Given the description of an element on the screen output the (x, y) to click on. 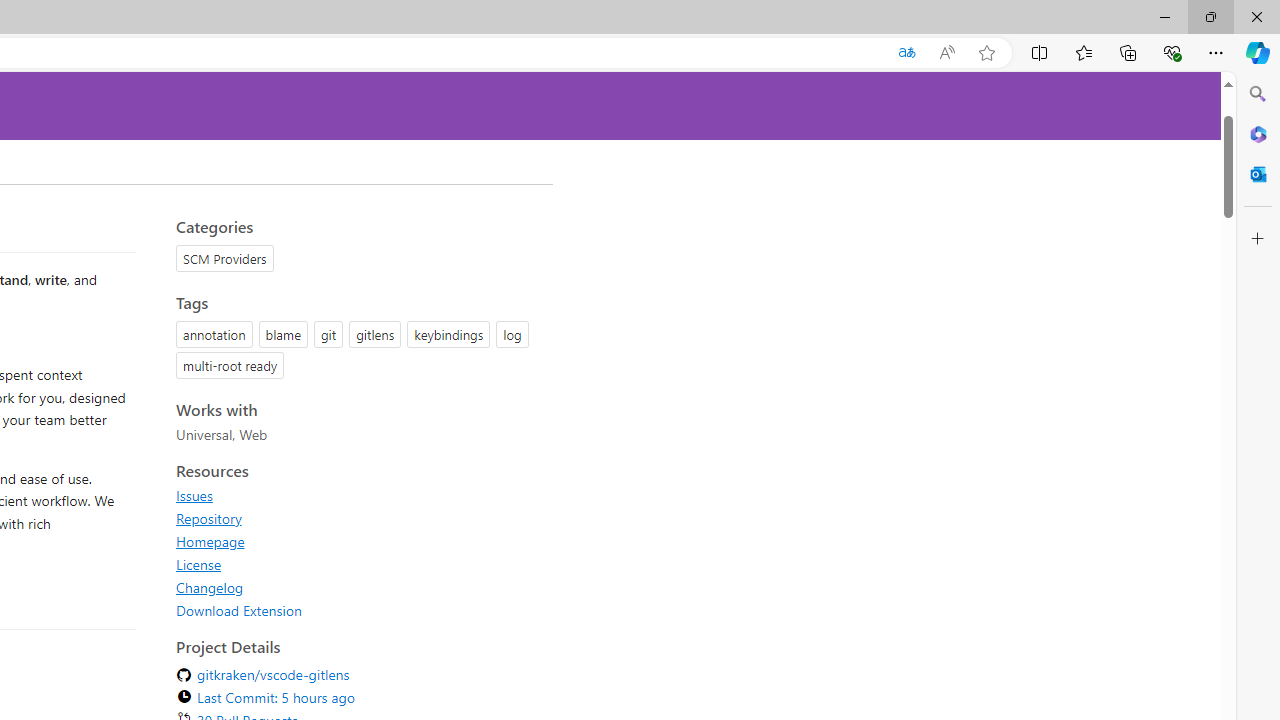
Issues (194, 495)
Translated (906, 53)
Download Extension (358, 610)
Changelog (210, 587)
